Given the description of an element on the screen output the (x, y) to click on. 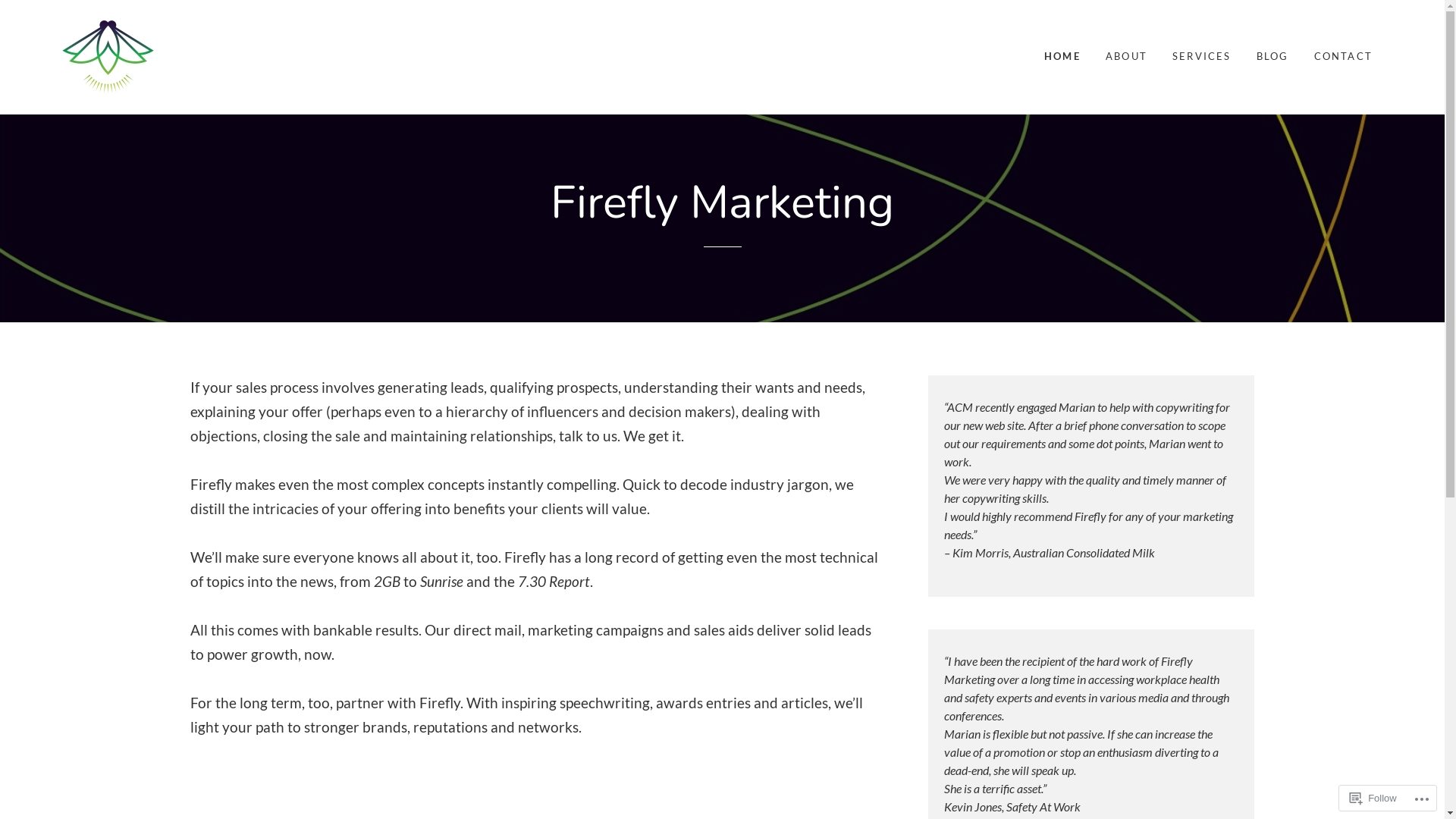
Safety At Work Element type: text (1043, 806)
SERVICES Element type: text (1201, 56)
ABOUT Element type: text (1126, 56)
HOME Element type: text (1062, 56)
BLOG Element type: text (1272, 56)
Follow Element type: text (1372, 797)
CONTACT Element type: text (1342, 56)
Australian Consolidated Milk Element type: text (1083, 552)
Firefly Marketing Element type: text (138, 129)
